Given the description of an element on the screen output the (x, y) to click on. 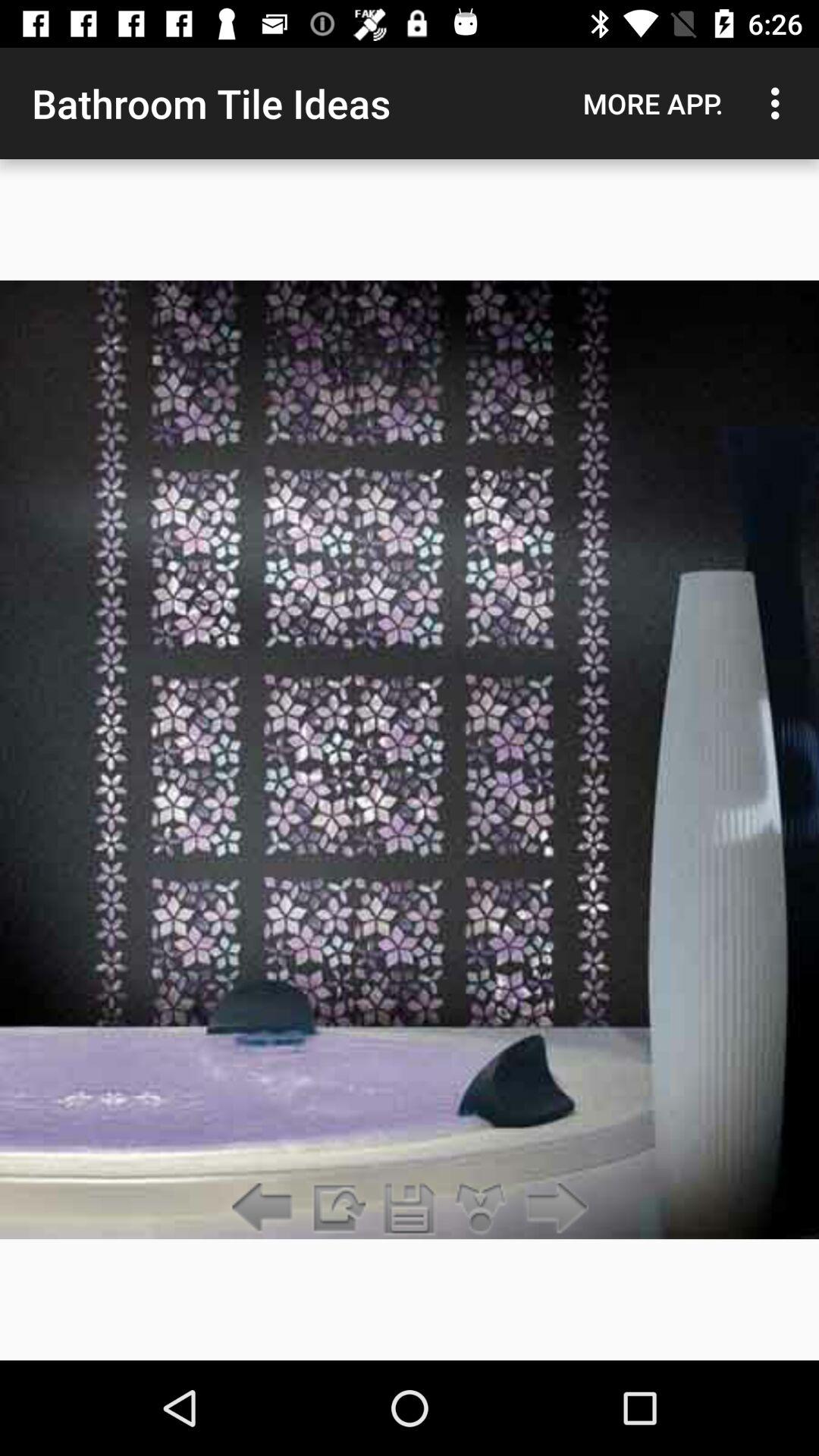
share the image (337, 1208)
